Given the description of an element on the screen output the (x, y) to click on. 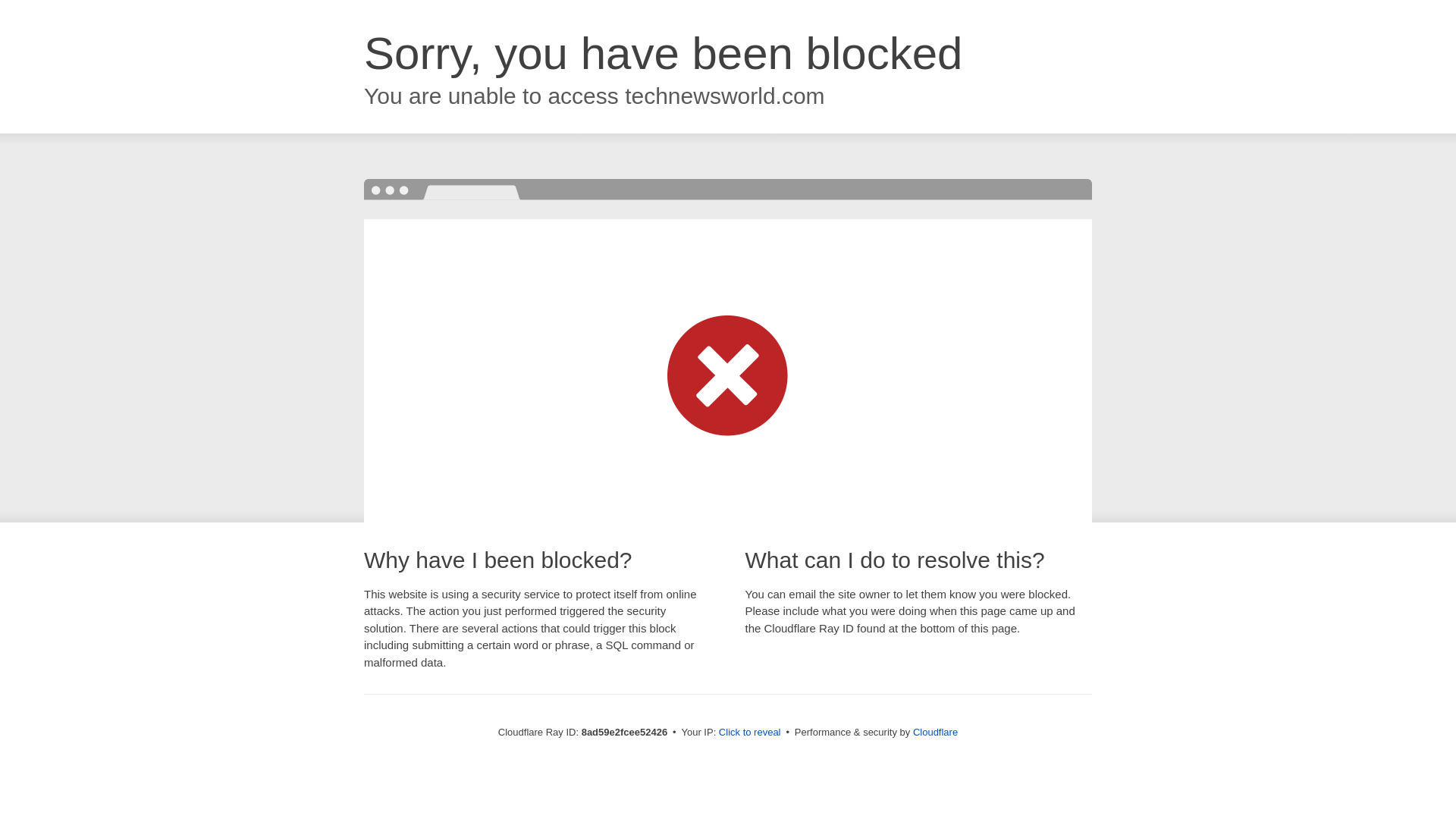
Click to reveal (749, 732)
Cloudflare (935, 731)
